Given the description of an element on the screen output the (x, y) to click on. 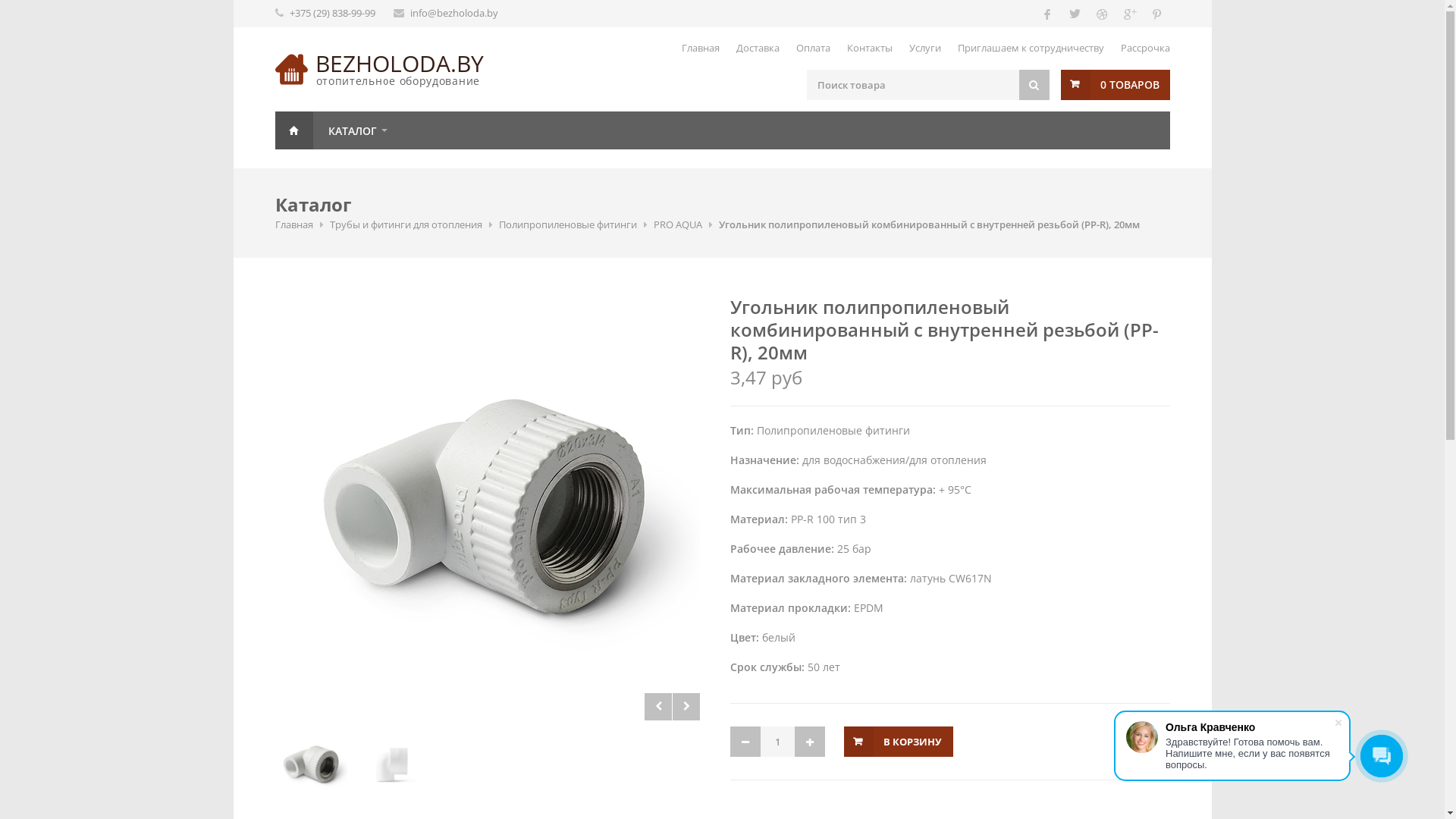
PRO AQUA Element type: text (677, 224)
info@bezholoda.by Element type: text (453, 12)
bezholoda.by Element type: hover (290, 69)
BEZHOLODA.BY Element type: text (399, 62)
